Given the description of an element on the screen output the (x, y) to click on. 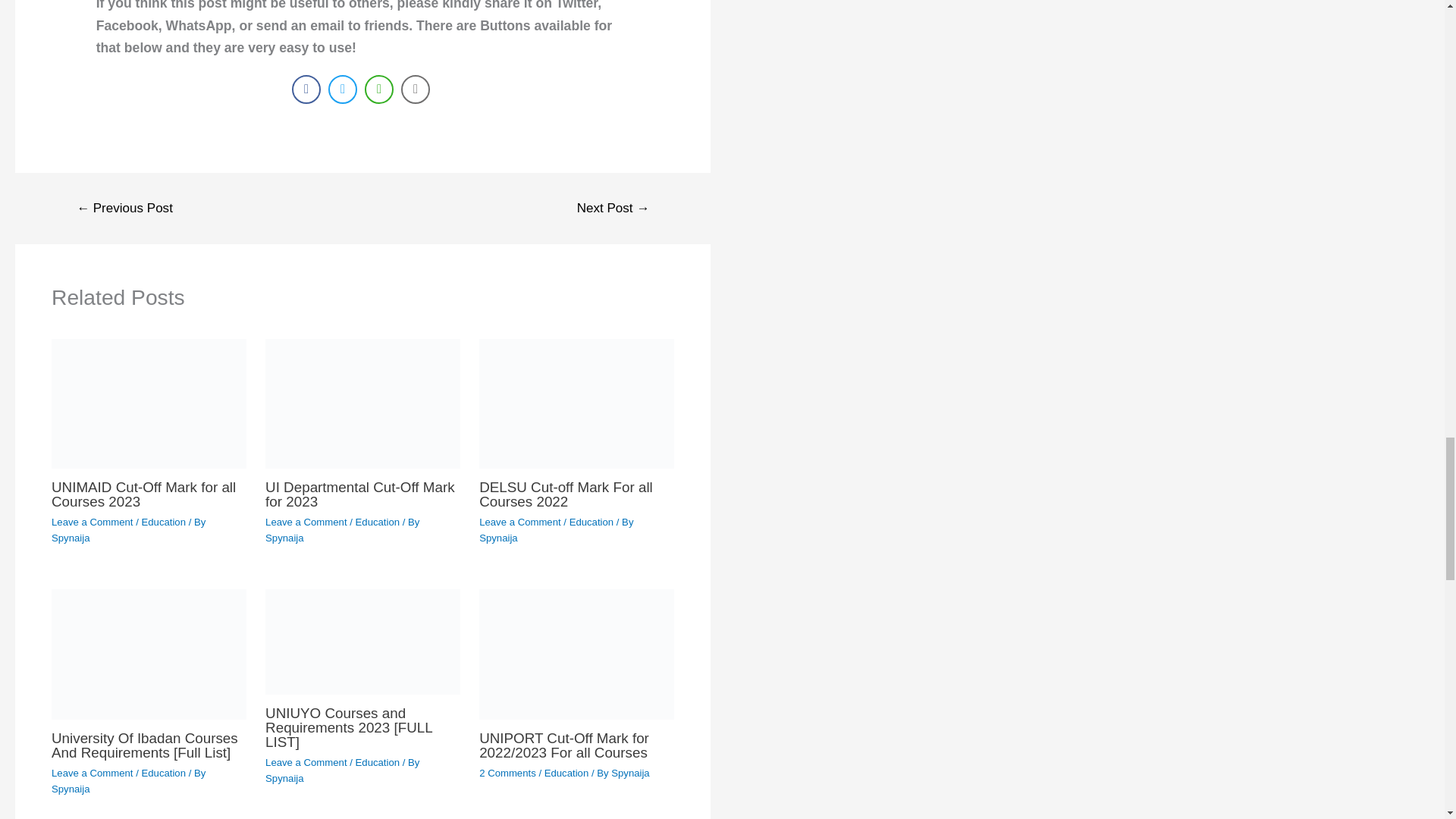
View all posts by Spynaija (283, 537)
View all posts by Spynaija (69, 788)
View all posts by Spynaija (69, 537)
View all posts by Spynaija (630, 772)
View all posts by Spynaija (283, 778)
View all posts by Spynaija (497, 537)
